Given the description of an element on the screen output the (x, y) to click on. 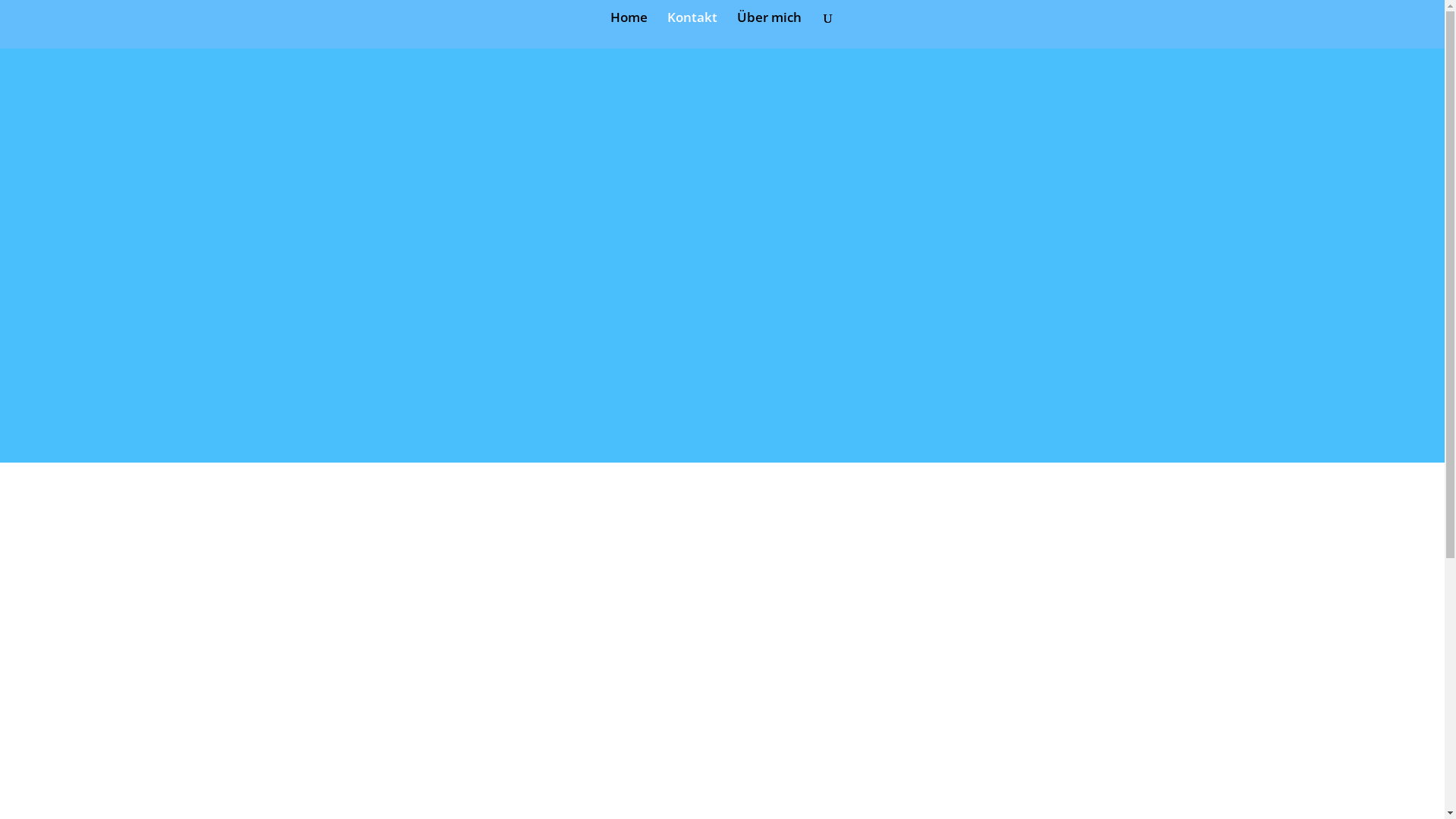
Home Element type: text (627, 30)
Kontakt Element type: text (692, 30)
